Given the description of an element on the screen output the (x, y) to click on. 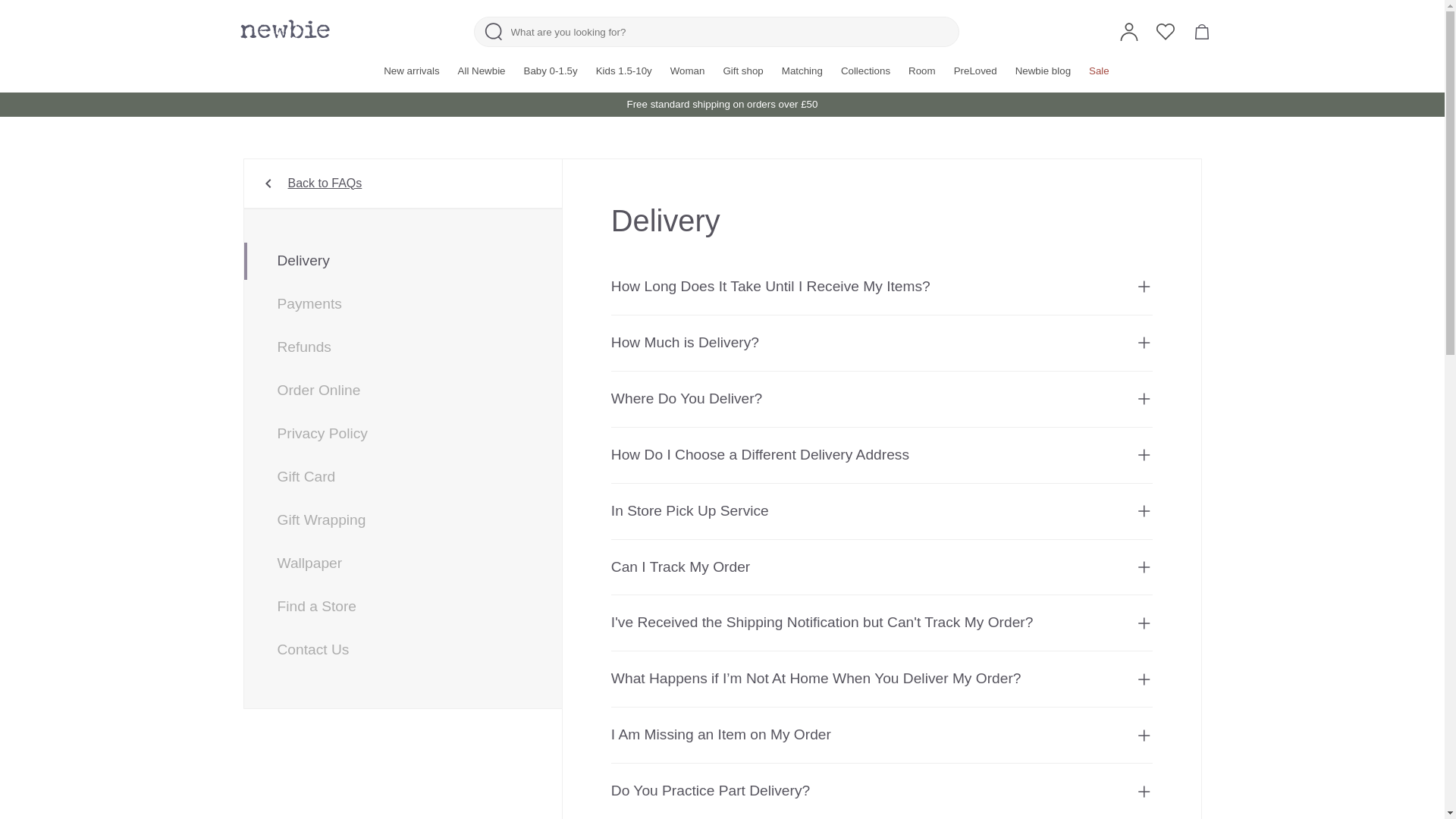
Kids 1.5-10y (623, 70)
New arrivals (411, 70)
Logo (284, 28)
All Newbie (481, 70)
Account (1128, 31)
Baby 0-1.5y (551, 70)
Translation missing: en.layout.wishlist (1164, 31)
Cart (1200, 31)
